Given the description of an element on the screen output the (x, y) to click on. 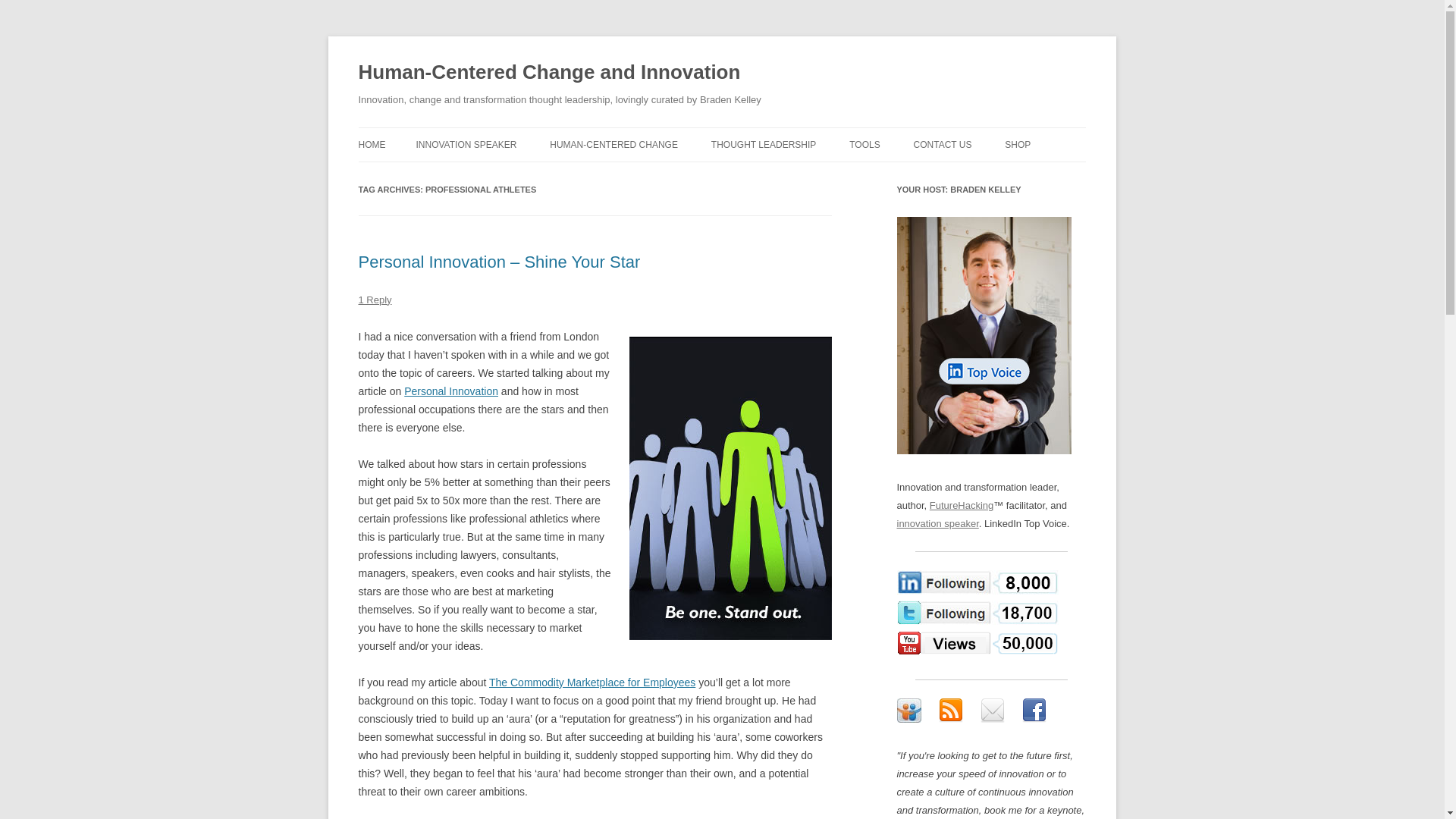
INNOVATION SPEAKER (465, 144)
HUMAN-CENTERED CHANGE (614, 144)
1 Reply (374, 299)
FREE INNOVATION MATURITY ASSESSMENT (924, 185)
Human-Centered Change and Innovation (548, 72)
TOOLS (863, 144)
NEWSLETTER SIGNUP (989, 176)
Subscribe to the Braden Kelley Monthly update (991, 710)
THE BOOK (625, 176)
